Given the description of an element on the screen output the (x, y) to click on. 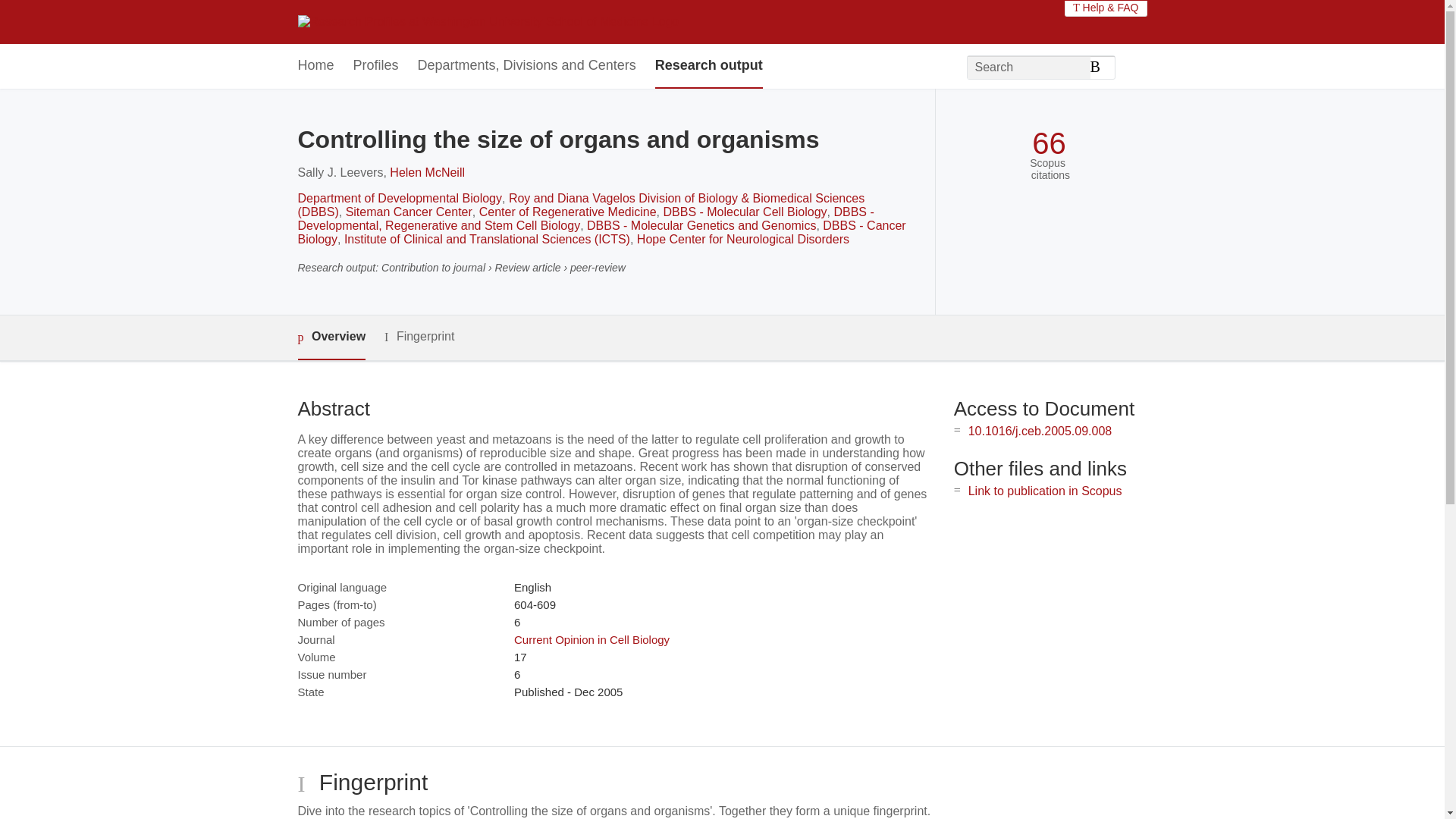
Overview (331, 337)
Helen McNeill (427, 172)
Departments, Divisions and Centers (526, 66)
Fingerprint (419, 336)
Department of Developmental Biology (398, 197)
Research output (708, 66)
Hope Center for Neurological Disorders (742, 238)
DBBS - Molecular Genetics and Genomics (700, 225)
